Given the description of an element on the screen output the (x, y) to click on. 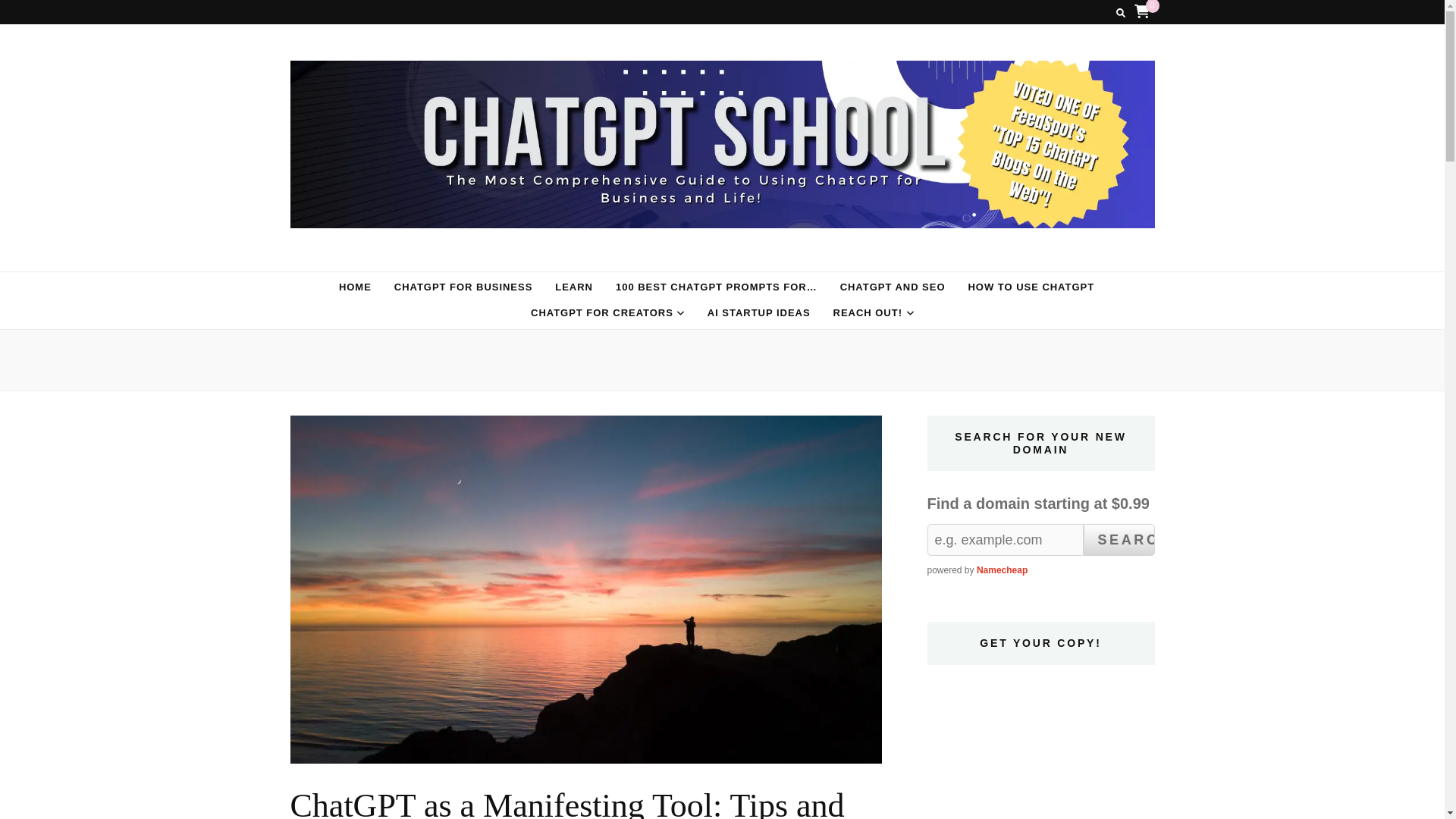
View your shopping cart (1142, 11)
0 (1142, 11)
CHATGPT FOR BUSINESS (463, 287)
AI STARTUP IDEAS (758, 313)
LEARN (573, 287)
CHATGPT FOR CREATORS (601, 313)
REACH OUT! (867, 313)
Search (1118, 540)
HOME (355, 287)
CHATGPT AND SEO (892, 287)
